Given the description of an element on the screen output the (x, y) to click on. 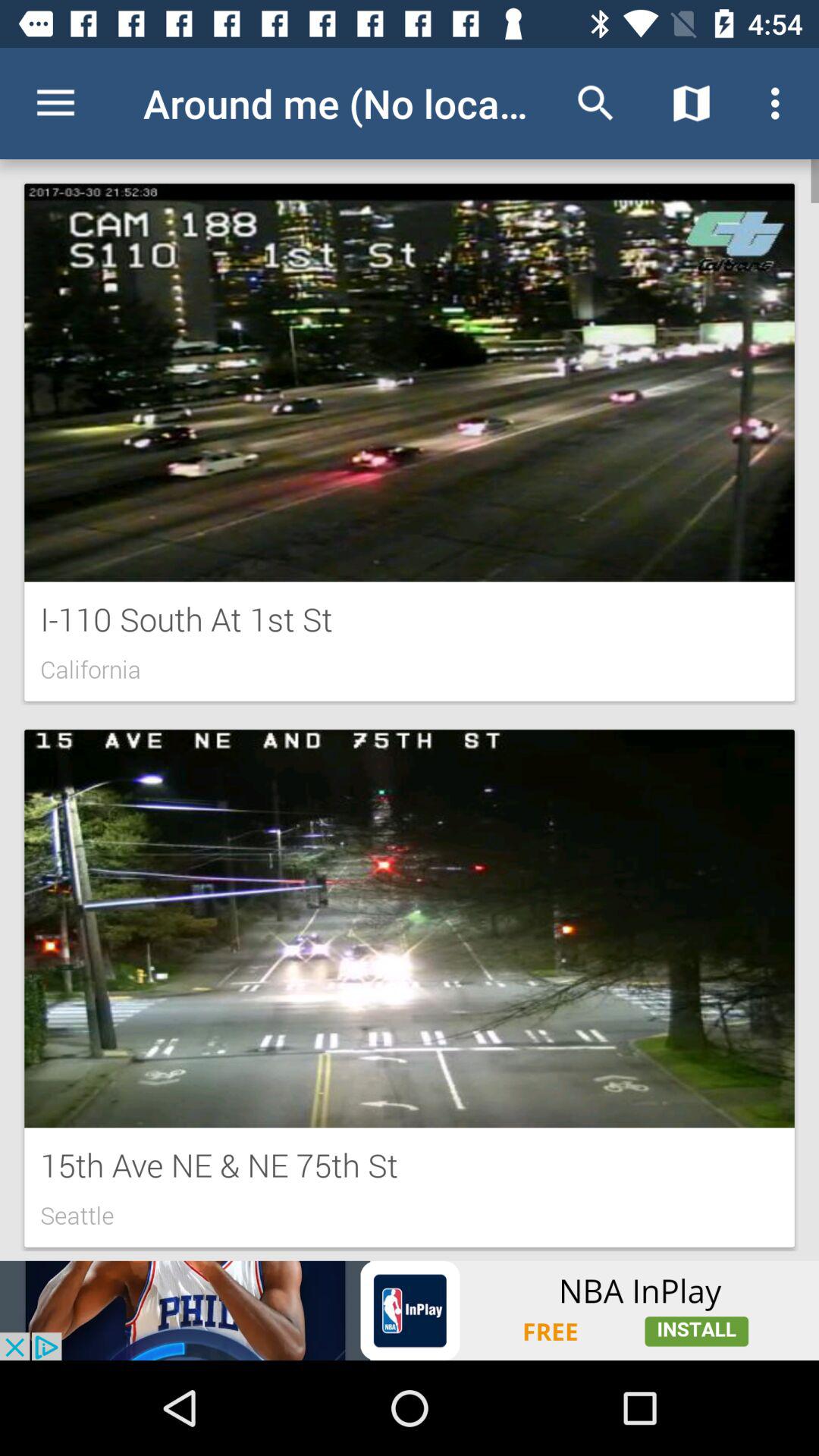
advertising (409, 1310)
